Given the description of an element on the screen output the (x, y) to click on. 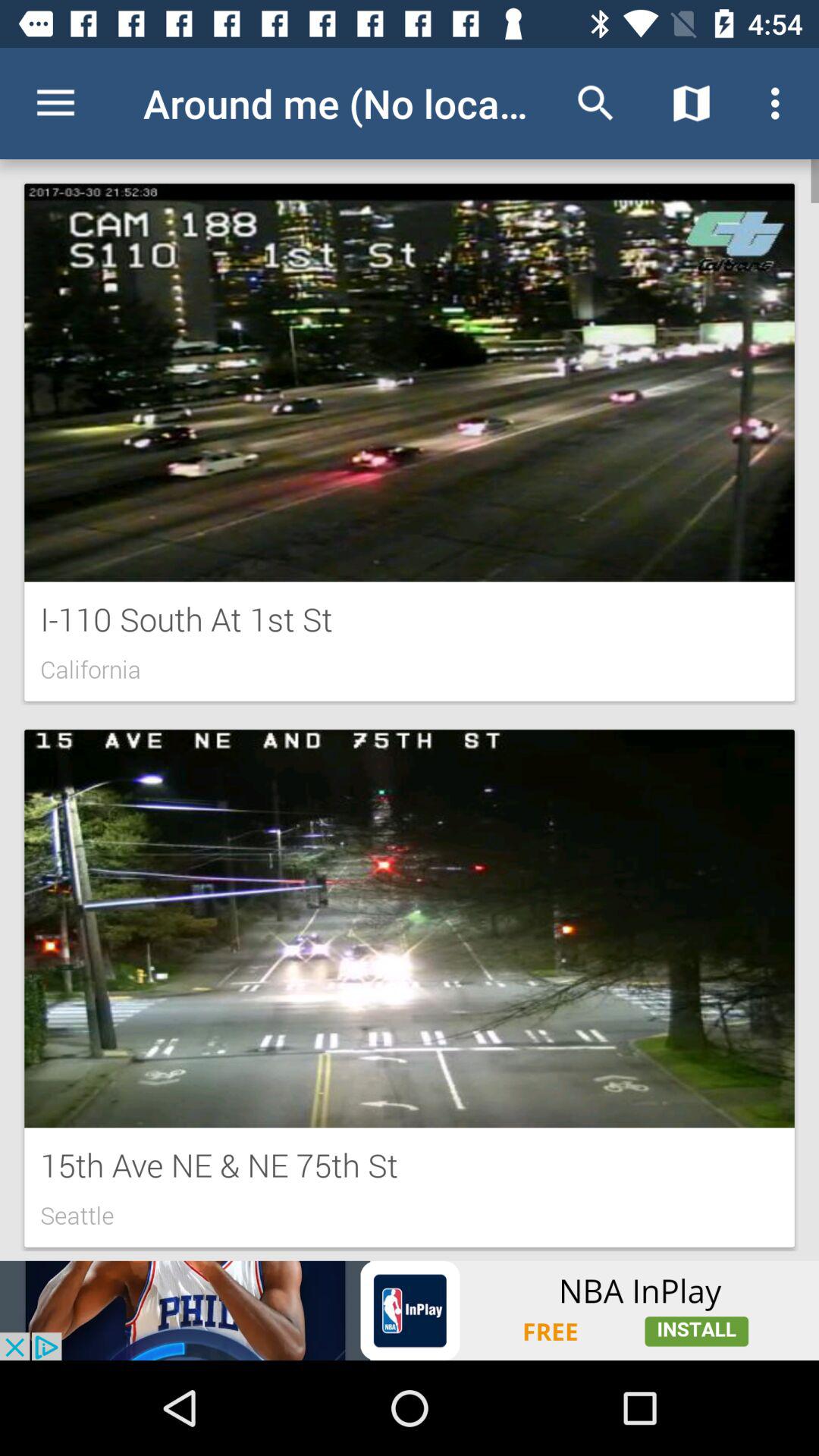
advertising (409, 1310)
